Given the description of an element on the screen output the (x, y) to click on. 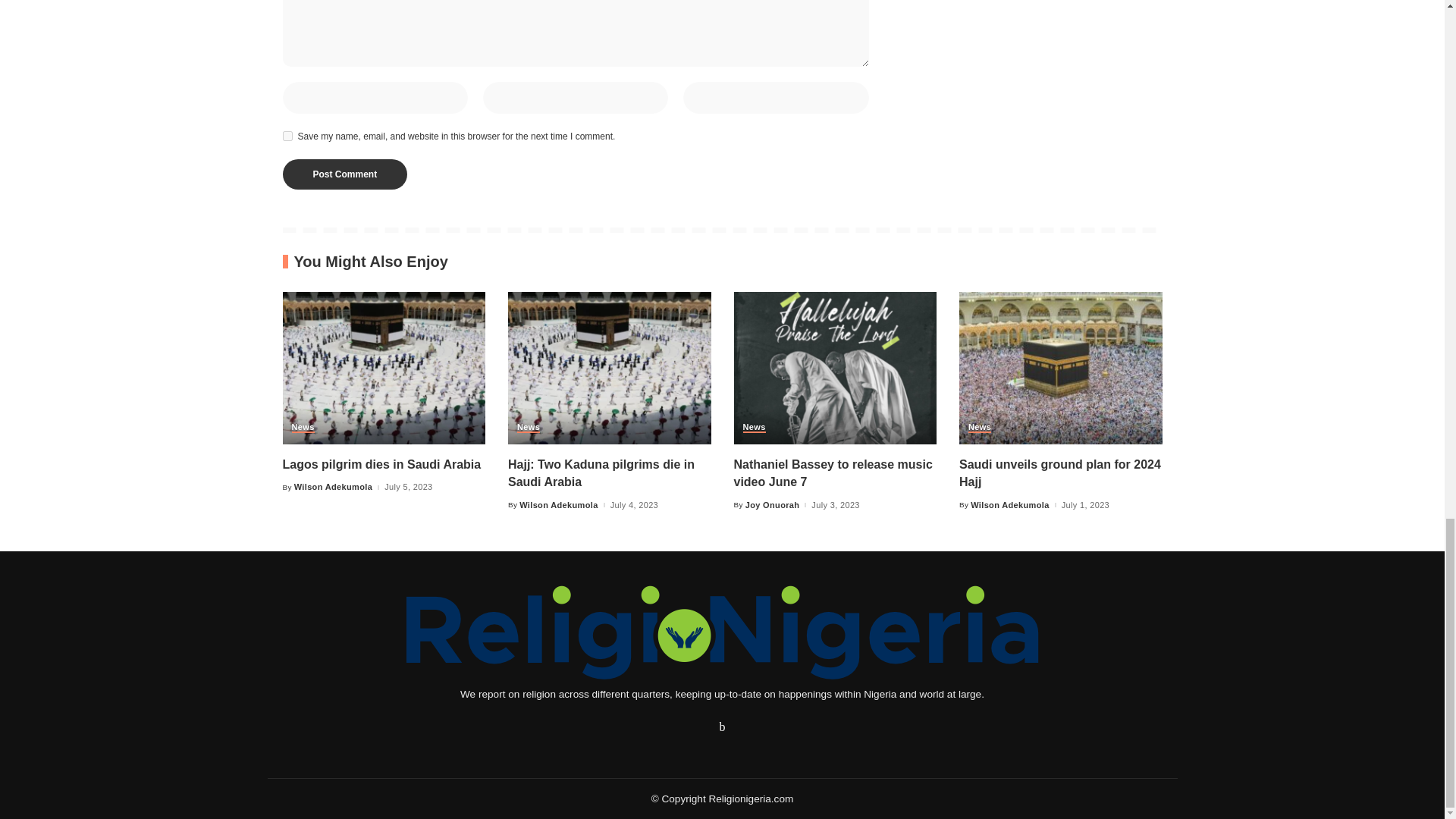
Post Comment (344, 173)
yes (287, 135)
